Given the description of an element on the screen output the (x, y) to click on. 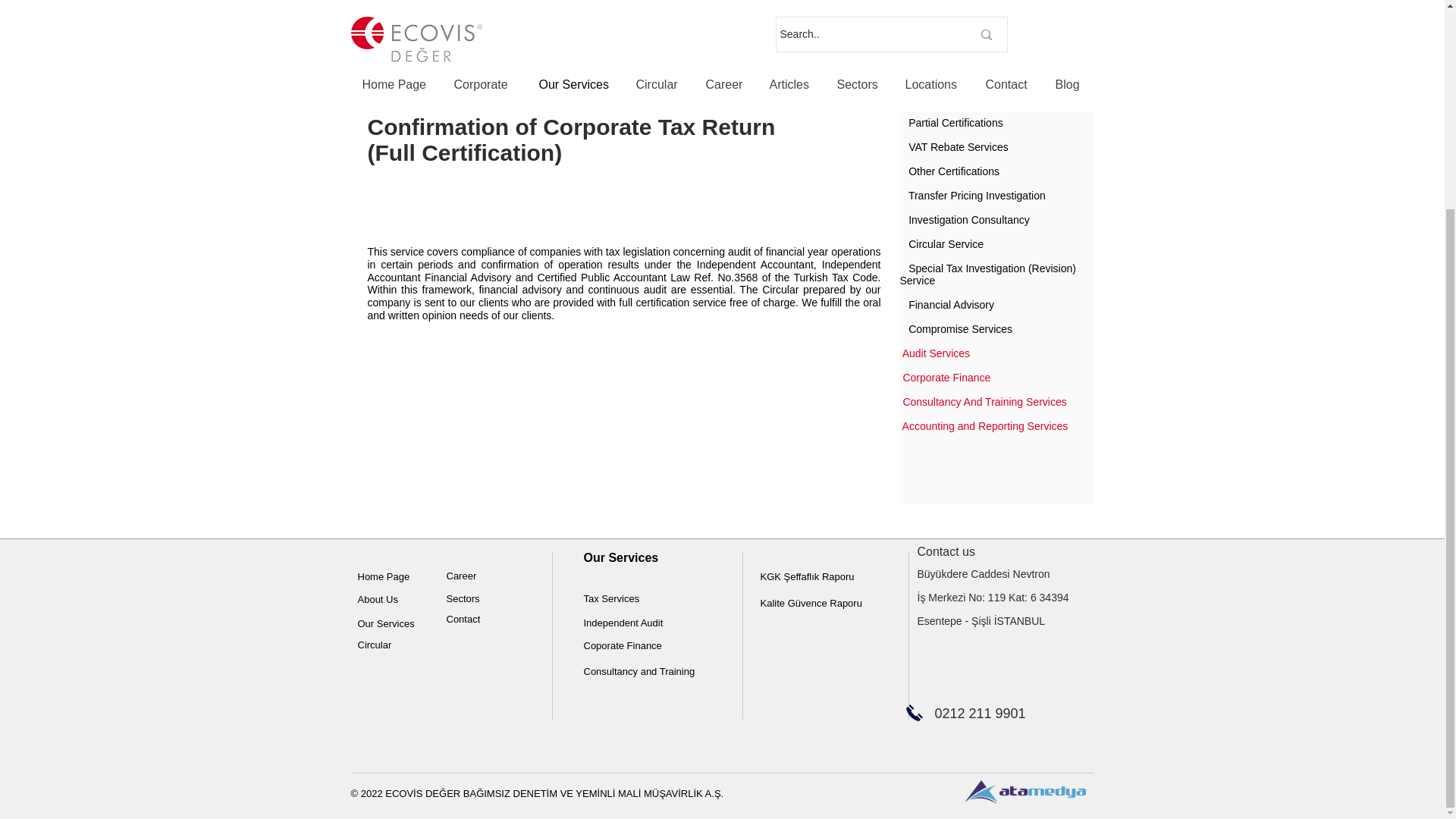
VAT Rebate Services (958, 146)
Financial Advisory (951, 304)
Coporate Finance (622, 645)
Consultancy And Training Services (983, 401)
Circular (374, 644)
Audit Services (935, 353)
Contact (462, 618)
Transfer Pricing Investigation (976, 195)
Independent Audit (623, 622)
Partial Certifications (955, 122)
Corporate Finance (946, 377)
Circular Service (946, 244)
Consultancy and Training (639, 671)
Compromise Services (959, 328)
Our Services (386, 623)
